Given the description of an element on the screen output the (x, y) to click on. 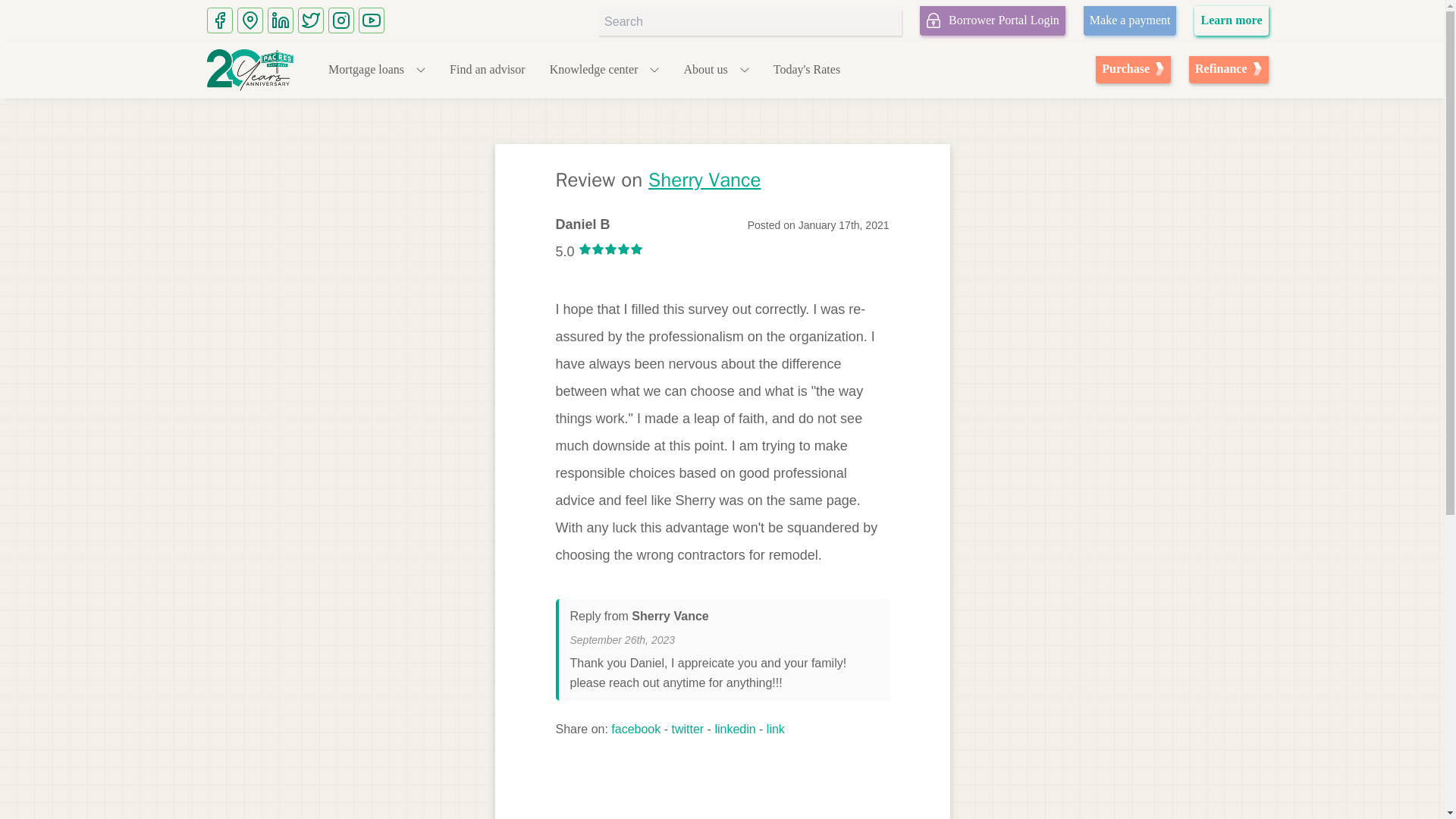
Find an advisor (487, 69)
Make a payment (992, 20)
Learn more (1129, 20)
